Given the description of an element on the screen output the (x, y) to click on. 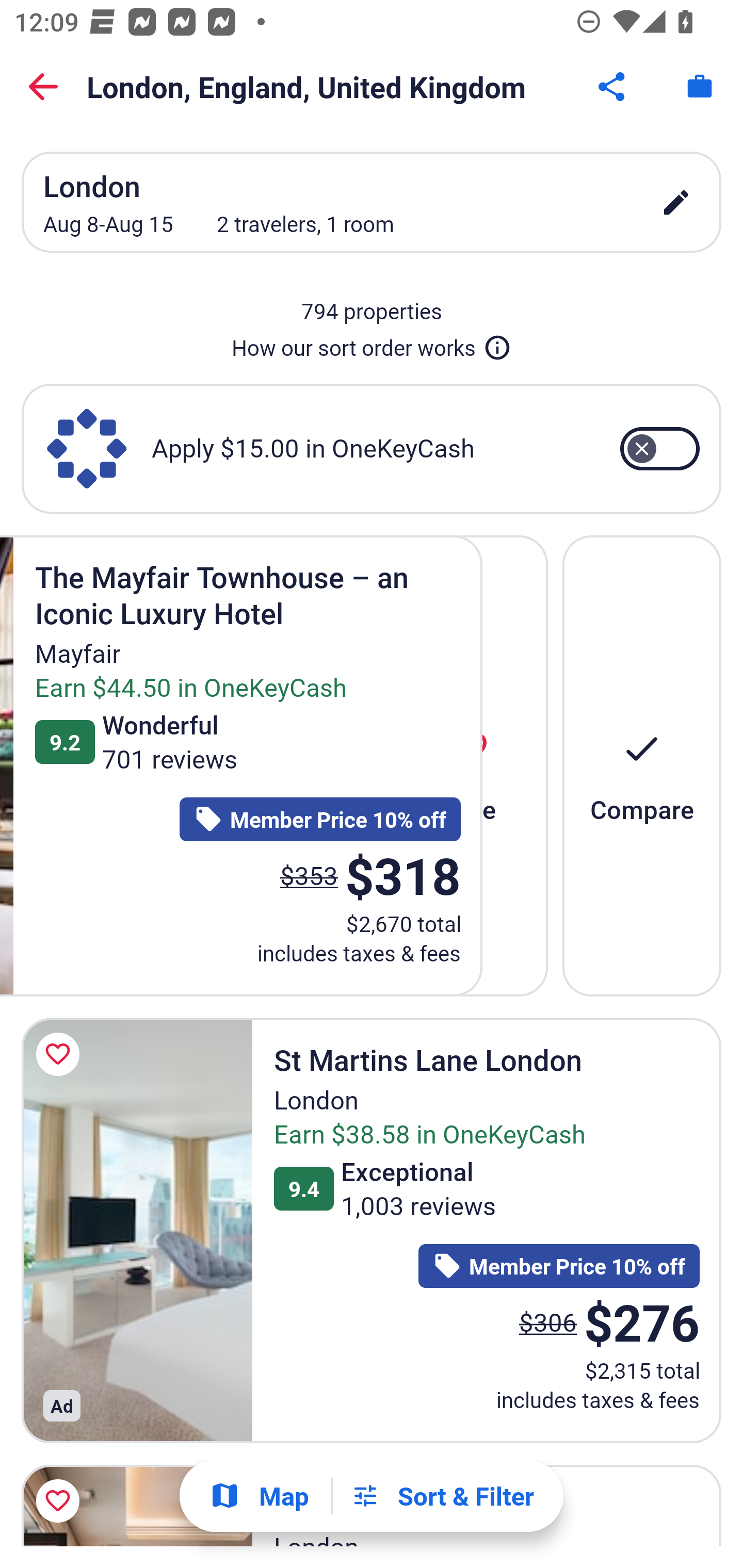
Back (43, 86)
Share Button (612, 86)
Trips. Button (699, 86)
London Aug 8-Aug 15 2 travelers, 1 room edit (371, 202)
How our sort order works (371, 344)
Compare (641, 765)
$353 The price was $353 (308, 875)
Save St Martins Lane London to a trip (61, 1054)
St Martins Lane London (136, 1229)
$306 The price was $306 (547, 1321)
Save Page8, Page Hotels to a trip (61, 1501)
Filters Sort & Filter Filters Button (442, 1495)
Show map Map Show map Button (258, 1495)
